Given the description of an element on the screen output the (x, y) to click on. 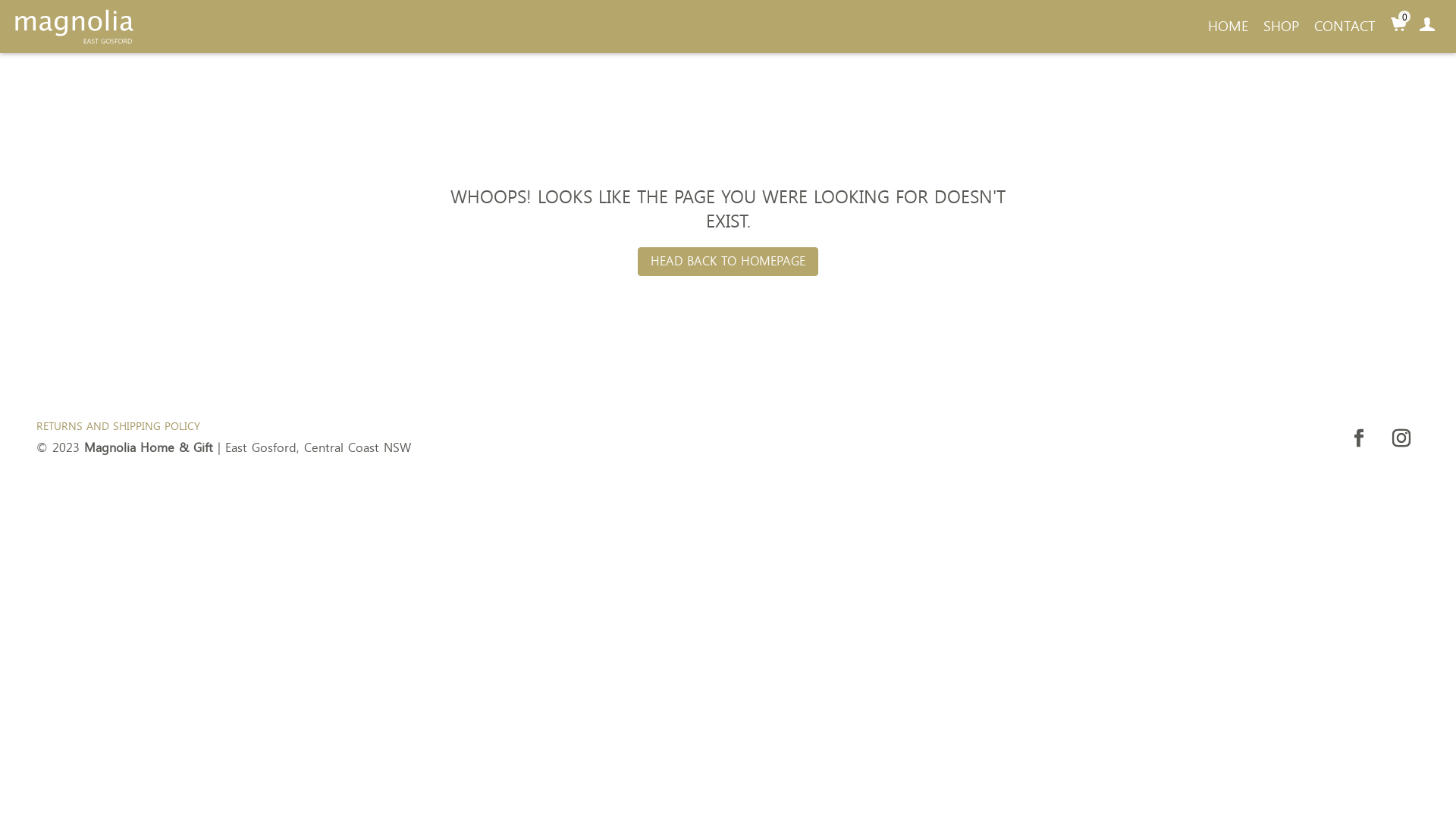
HEAD BACK TO HOMEPAGE Element type: text (727, 261)
Follow on Instagram Element type: hover (1401, 438)
RETURNS AND SHIPPING POLICY Element type: text (118, 426)
CONTACT Element type: text (1344, 26)
HOME Element type: text (1227, 26)
SHOP Element type: text (1280, 26)
Follow on Facebook Element type: hover (1358, 438)
0 Element type: text (1397, 26)
